Given the description of an element on the screen output the (x, y) to click on. 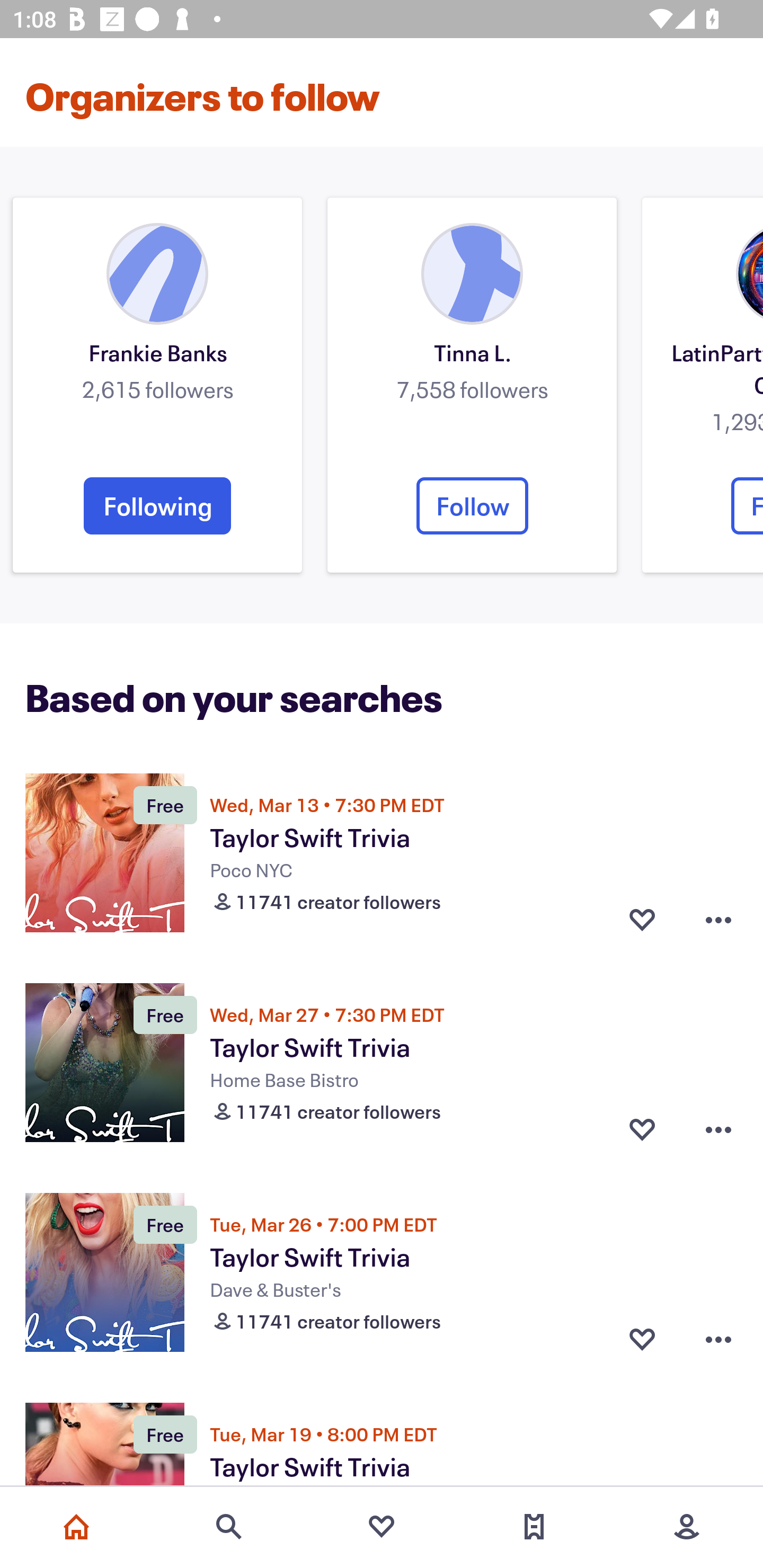
Following Organizer's follow button (157, 505)
Follow Organizer's follow button (471, 505)
Favorite button (642, 919)
Overflow menu button (718, 919)
Favorite button (642, 1129)
Overflow menu button (718, 1129)
Favorite button (642, 1338)
Overflow menu button (718, 1338)
Home (76, 1526)
Search events (228, 1526)
Favorites (381, 1526)
Tickets (533, 1526)
More (686, 1526)
